Given the description of an element on the screen output the (x, y) to click on. 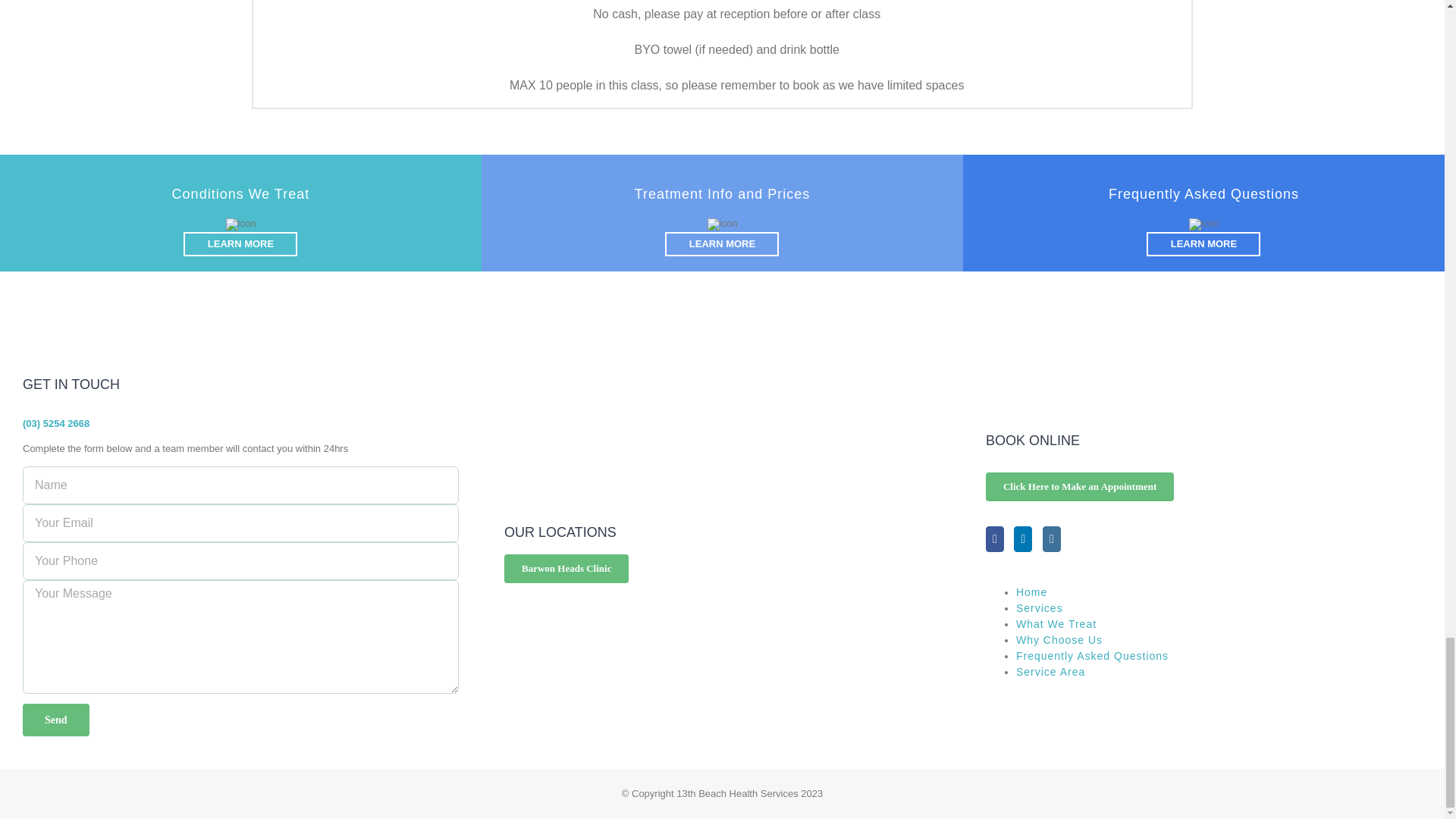
icon (1204, 224)
icon (722, 224)
icon (240, 224)
Send (55, 719)
